Given the description of an element on the screen output the (x, y) to click on. 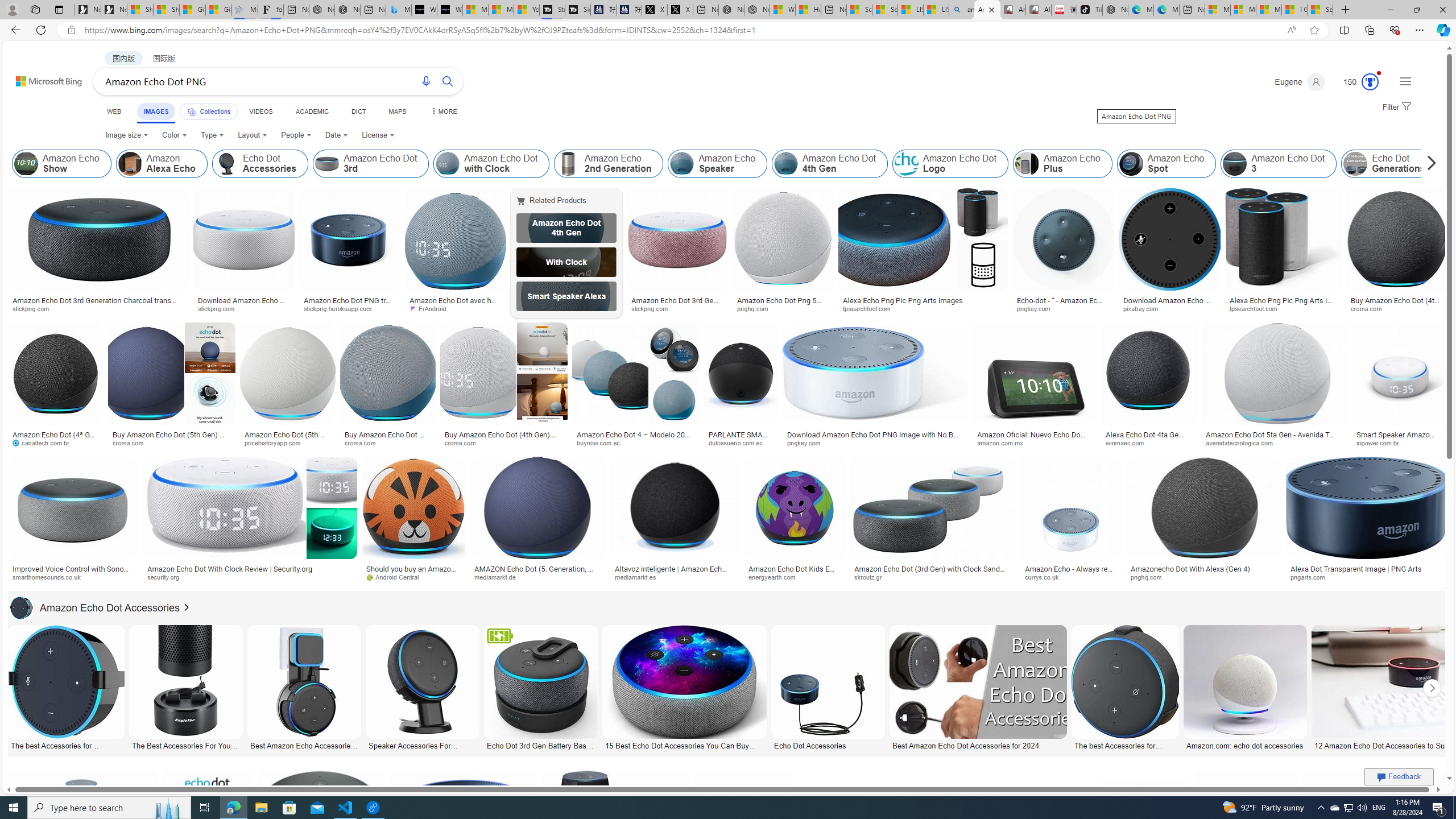
Amazon.com: echo dot accessories (1245, 744)
Amazon Echo - Always ready, connected and fast. Just ask. (1070, 572)
Gilma and Hector both pose tropical trouble for Hawaii (217, 9)
stickpng.herokuapp.com (350, 308)
Echo Dot with Clock (565, 261)
Type (212, 135)
I Gained 20 Pounds of Muscle in 30 Days! | Watch (1293, 9)
Amazon Echo Plus (1026, 163)
